Given the description of an element on the screen output the (x, y) to click on. 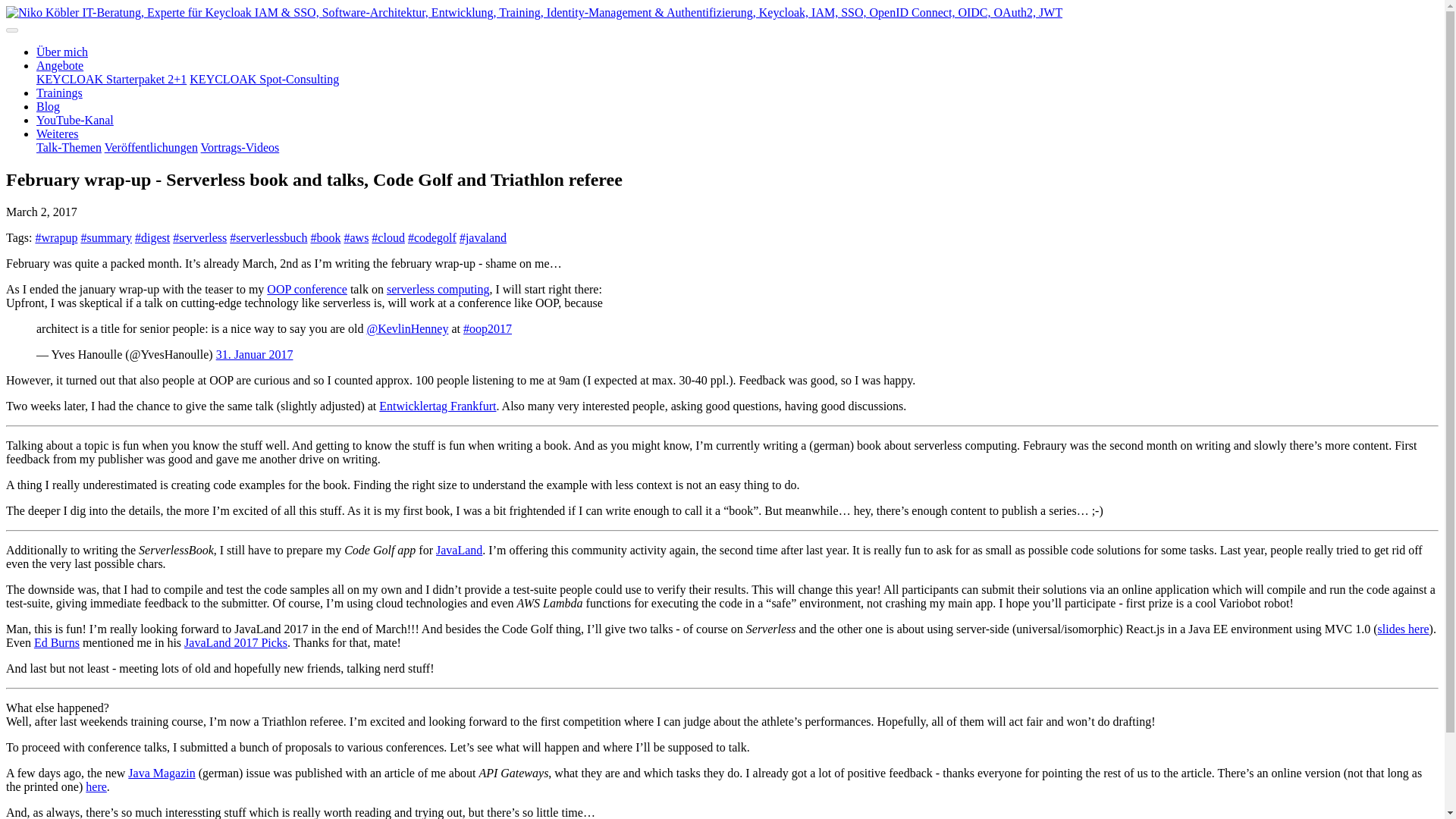
serverless computing (438, 288)
slides here (1403, 628)
Ed Burns (56, 642)
Vortrags-Videos (239, 146)
Entwicklertag Frankfurt (437, 405)
Trainings (59, 92)
KEYCLOAK Spot-Consulting (264, 78)
Angebote (59, 65)
Blog (47, 106)
Java Magazin (161, 772)
JavaLand 2017 Picks (235, 642)
Talk-Themen (68, 146)
here (95, 786)
OOP conference (306, 288)
JavaLand (458, 549)
